Given the description of an element on the screen output the (x, y) to click on. 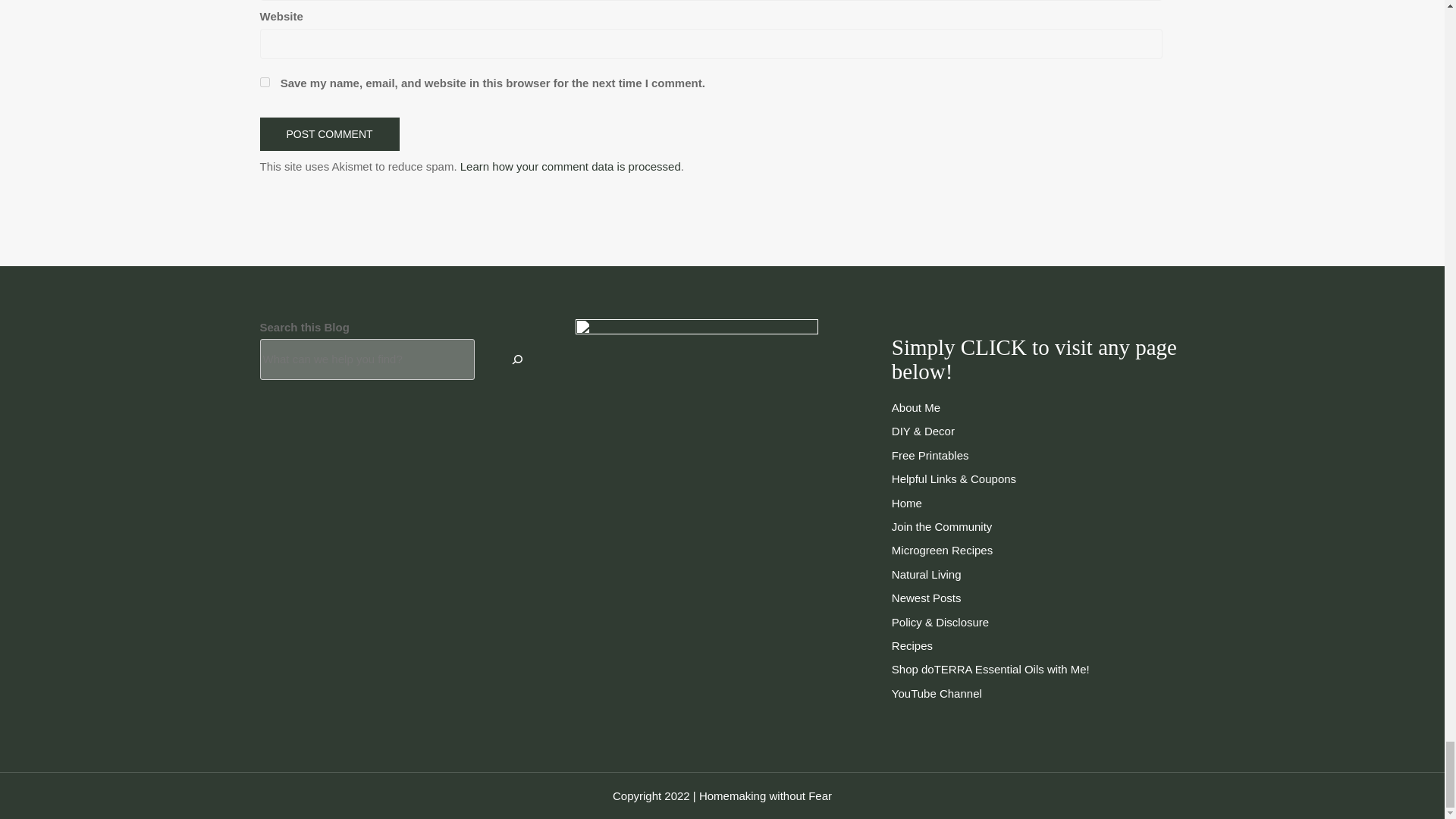
yes (264, 81)
Post Comment (328, 133)
